Given the description of an element on the screen output the (x, y) to click on. 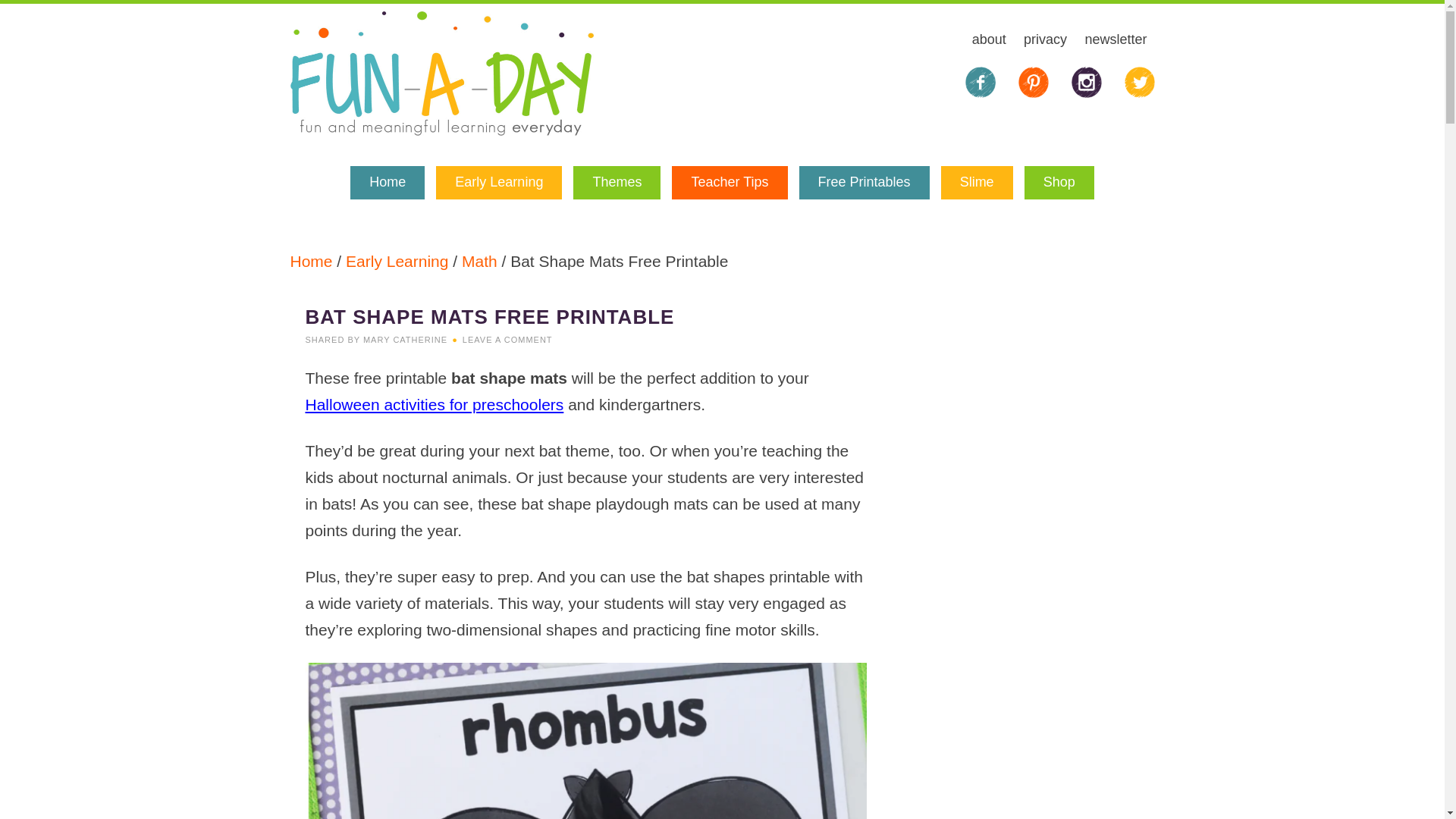
Math (479, 261)
Shop (1059, 182)
about (988, 40)
Slime (976, 182)
Home (387, 182)
privacy (1045, 40)
FUN-A-DAY! (440, 73)
LEAVE A COMMENT (508, 338)
Halloween activities for preschoolers (433, 404)
Themes (617, 182)
